Given the description of an element on the screen output the (x, y) to click on. 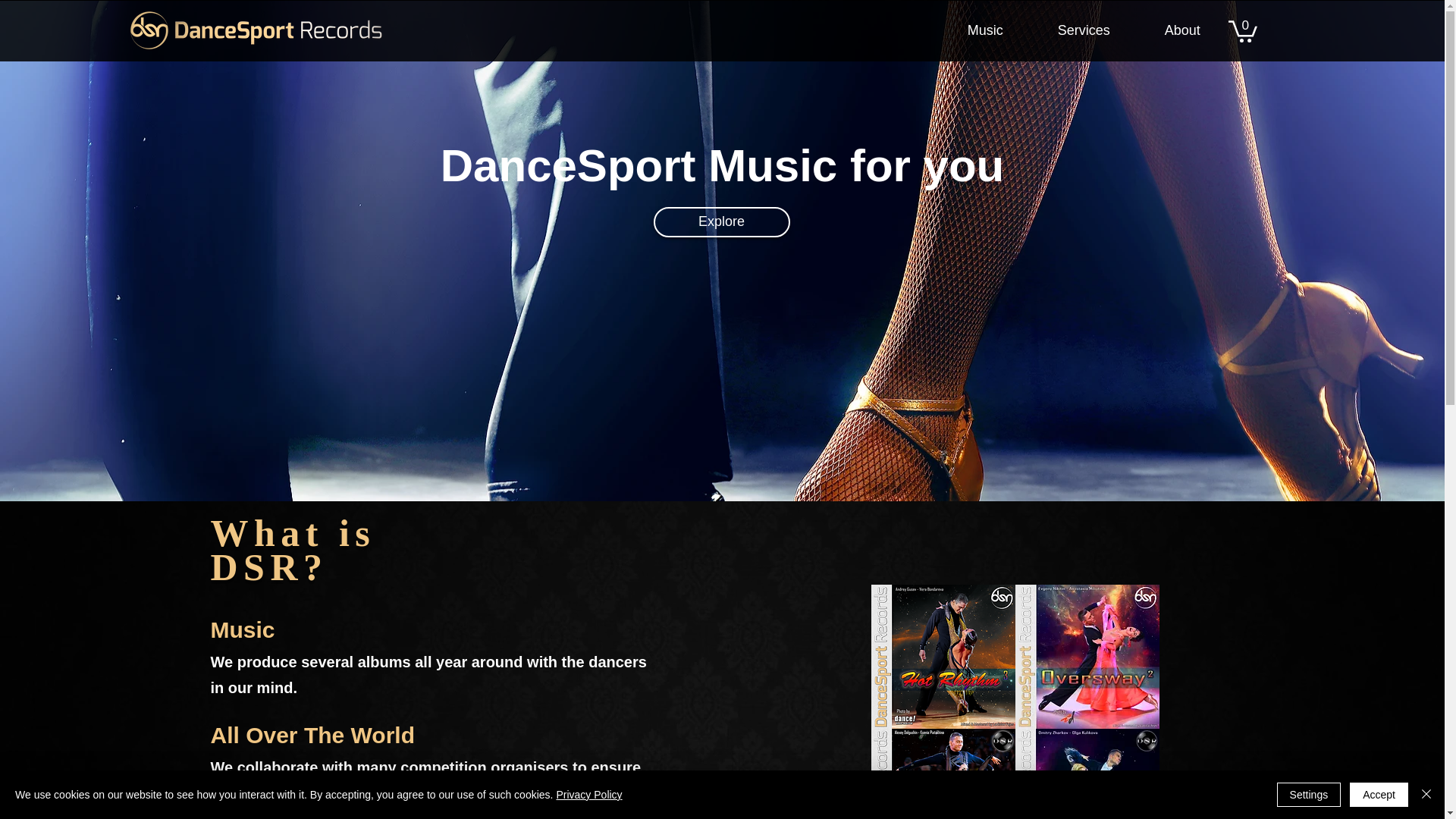
Services (1083, 30)
Explore (721, 222)
Music (984, 30)
0 (1242, 30)
Accept (1378, 794)
About (1182, 30)
Settings (1308, 794)
Privacy Policy (588, 794)
0 (1242, 30)
